Given the description of an element on the screen output the (x, y) to click on. 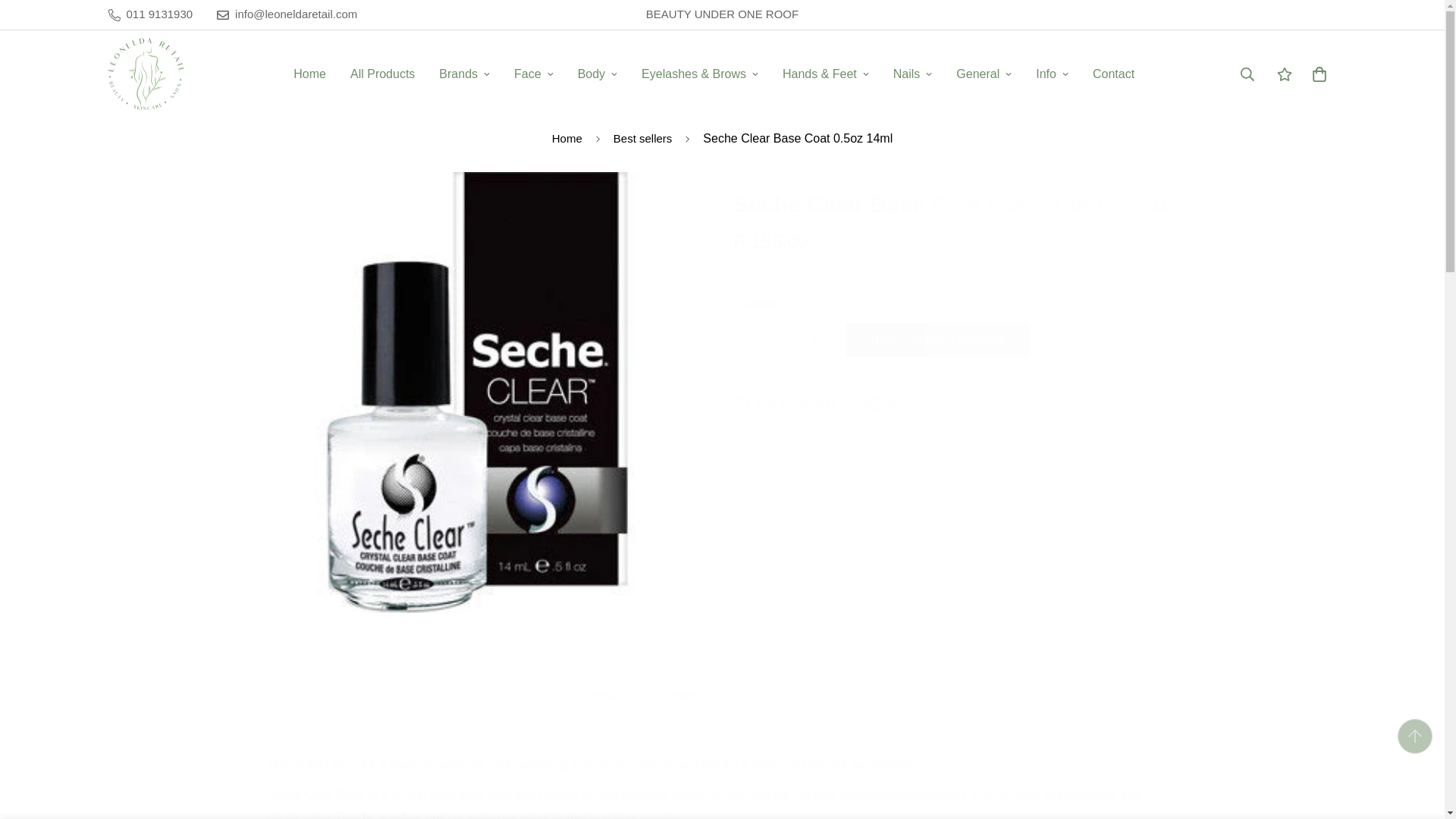
Back to the home page (567, 138)
1 (782, 339)
011 9131930 (150, 14)
